Given the description of an element on the screen output the (x, y) to click on. 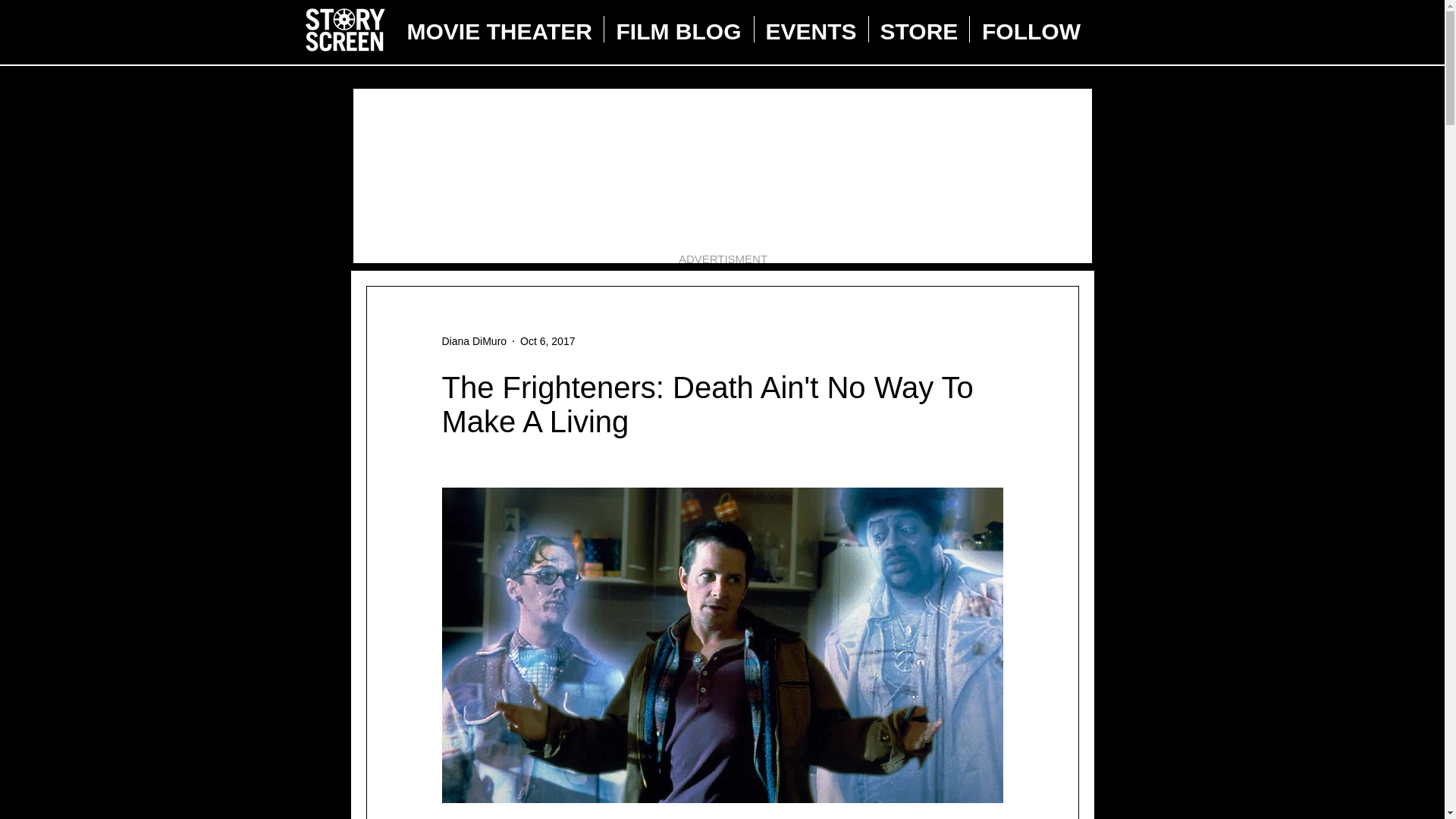
Diana DiMuro (473, 341)
STORE (919, 28)
FOLLOW (1031, 28)
Diana DiMuro (473, 341)
MOVIE THEATER (500, 28)
Oct 6, 2017 (547, 340)
FILM BLOG (678, 28)
EVENTS (810, 28)
